Given the description of an element on the screen output the (x, y) to click on. 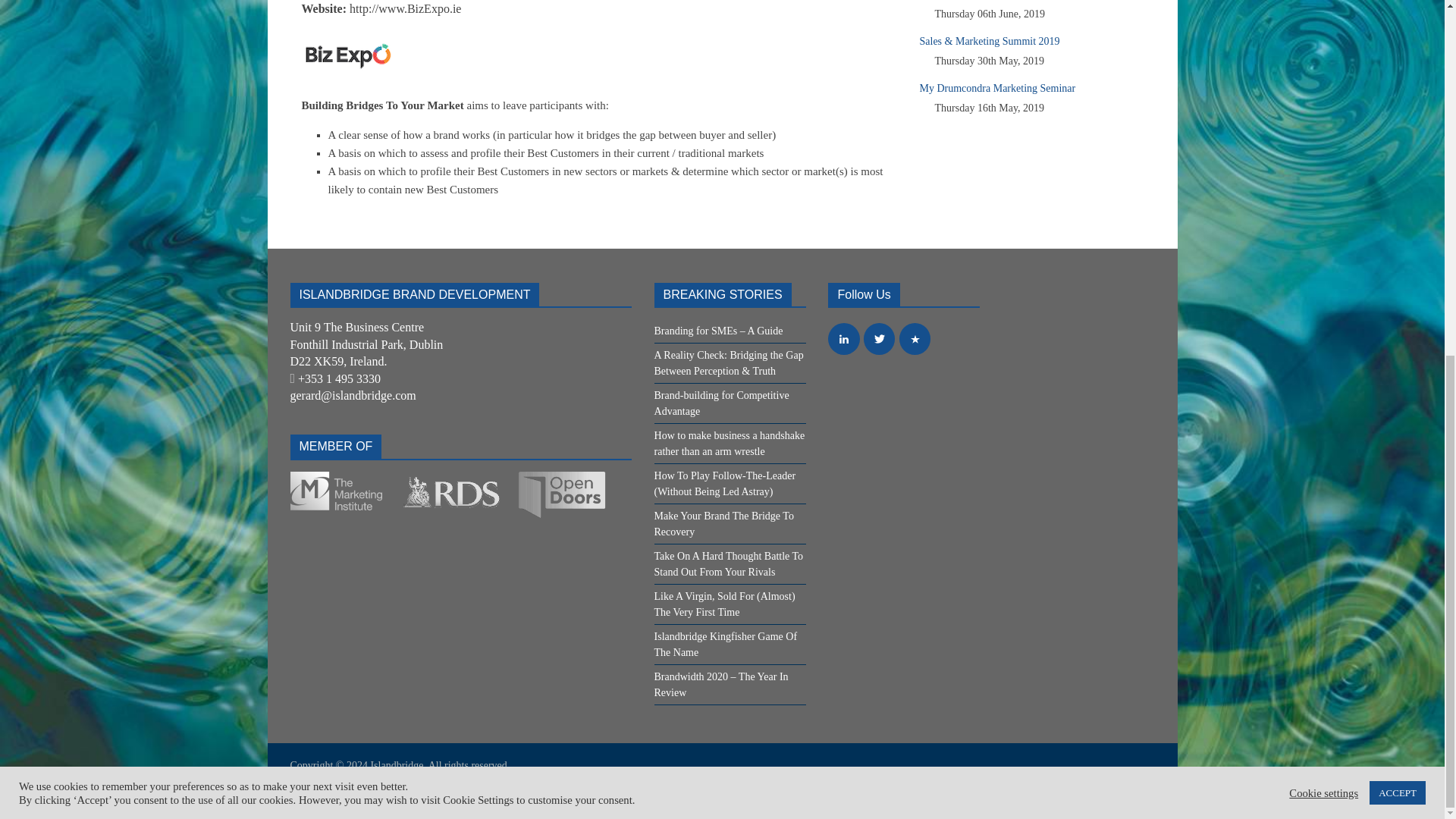
Member Of (456, 493)
Member Of (561, 494)
Venture Business Network (561, 478)
Islandbridge (396, 766)
RDS Convention Centre (457, 478)
Contact Islandbridge (351, 395)
The Marketing Institute (345, 478)
Member Of (343, 491)
